Given the description of an element on the screen output the (x, y) to click on. 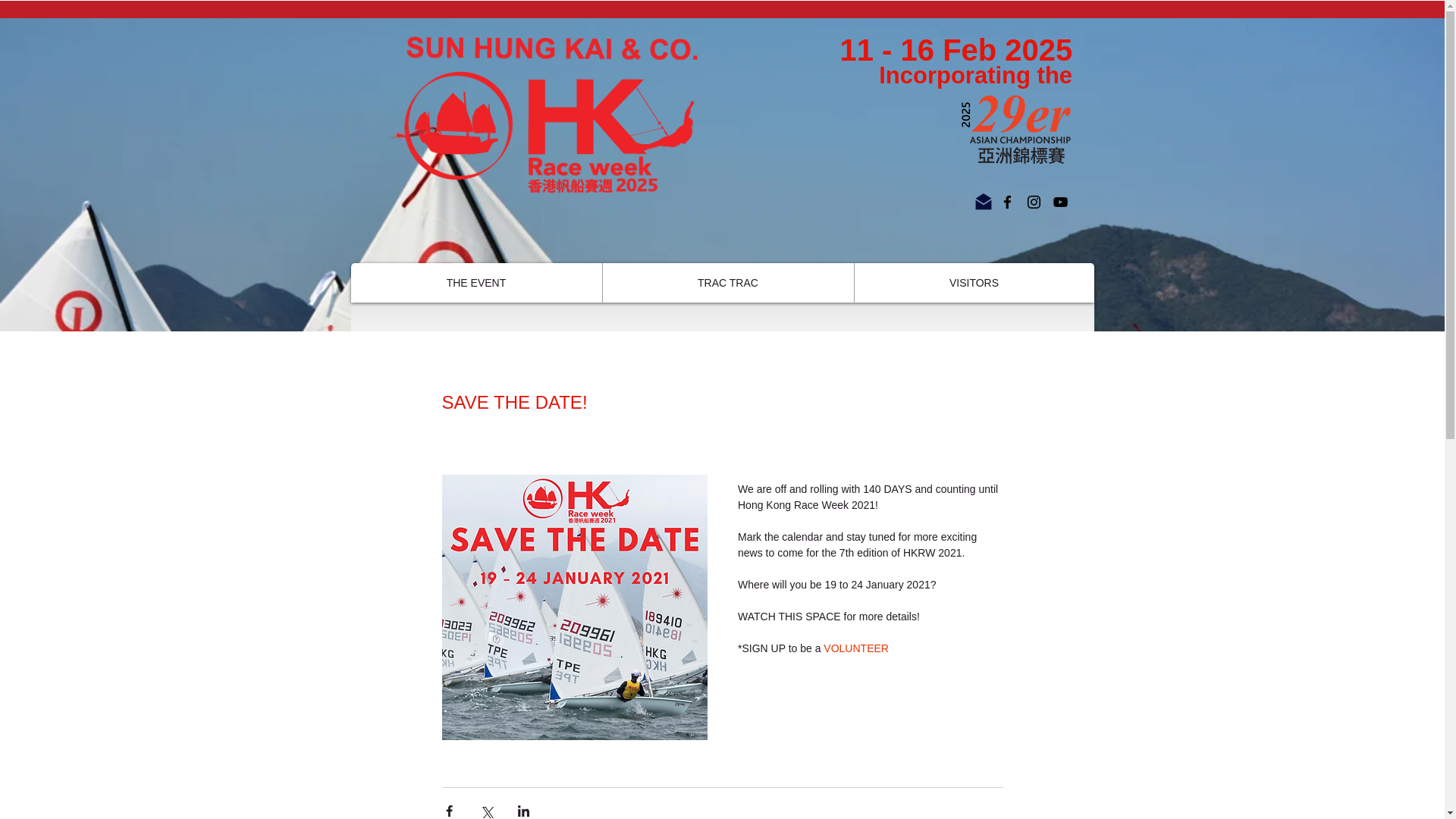
White-Logo-PNG-format.png (542, 121)
TRAC TRAC (727, 282)
VOLUNTEER (856, 648)
VISITORS (973, 282)
THE EVENT (475, 282)
